Given the description of an element on the screen output the (x, y) to click on. 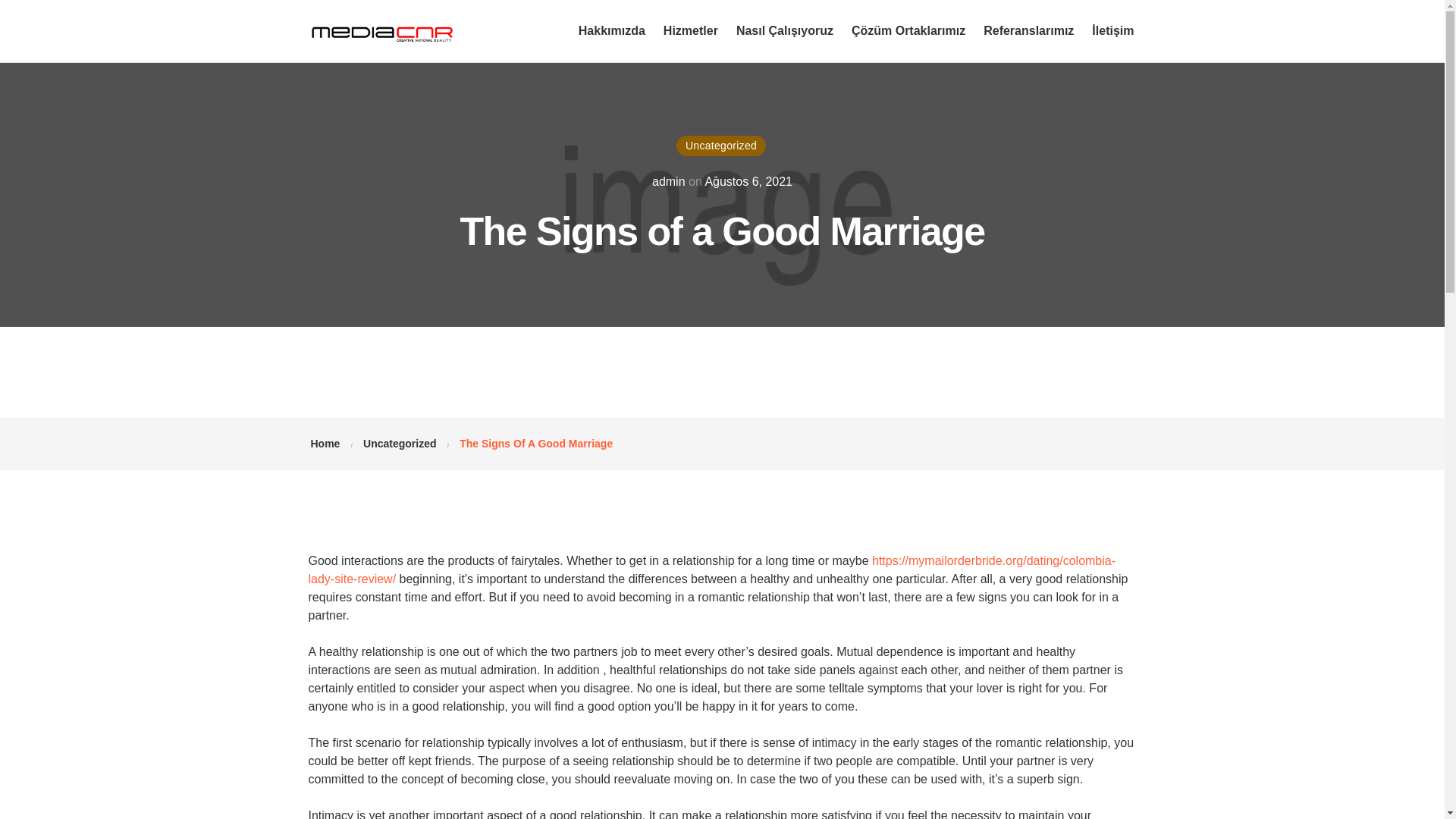
Visit Author Posts (668, 181)
Home (325, 443)
Hizmetler (689, 31)
Uncategorized (721, 145)
Home (325, 443)
Uncategorized (398, 443)
Media CNR (381, 31)
Uncategorized (398, 443)
admin (668, 181)
